Given the description of an element on the screen output the (x, y) to click on. 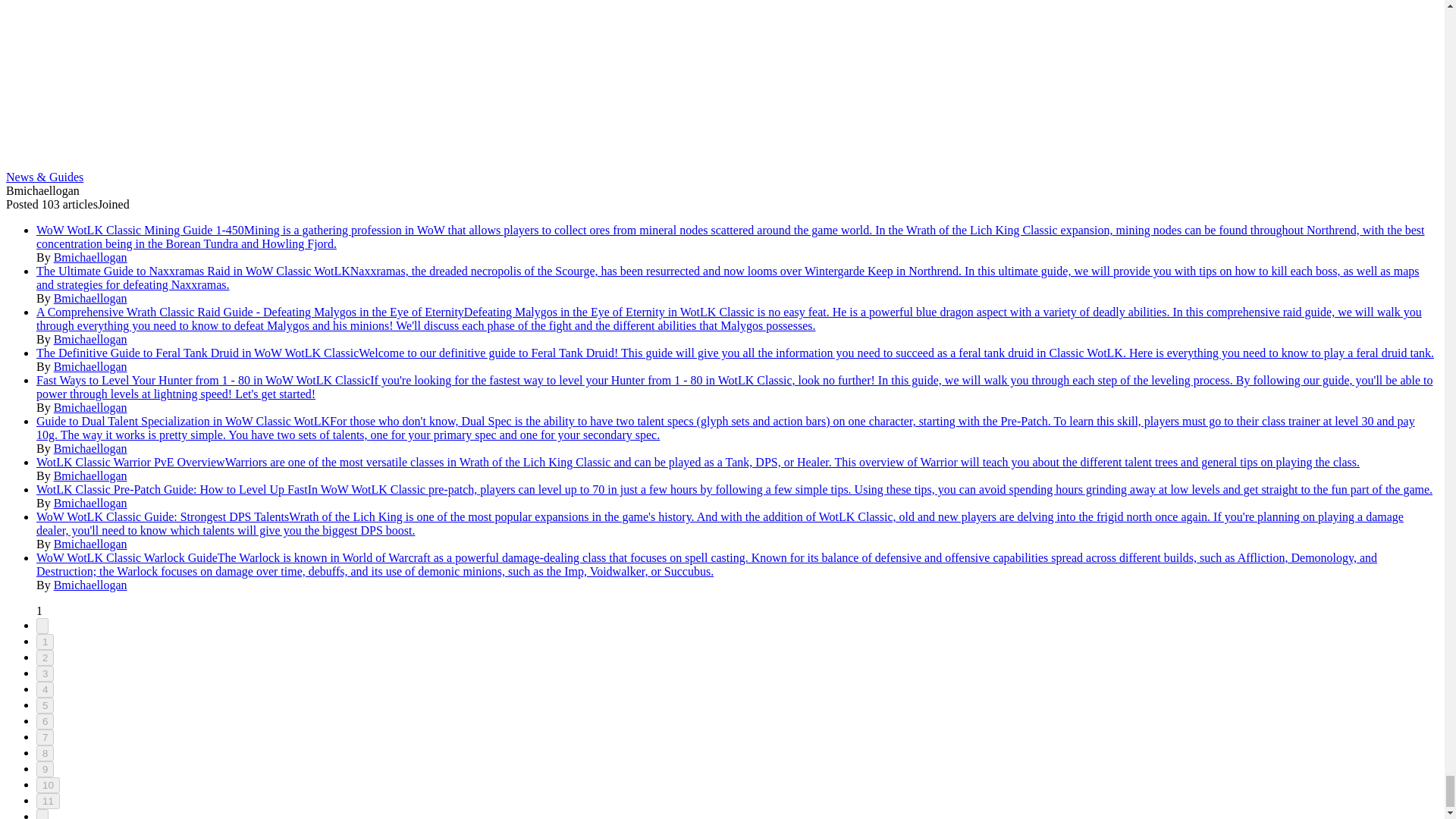
WoW WotLK Classic Mining Guide 1-450 (140, 229)
Bmichaellogan (90, 256)
The Ultimate Guide to Naxxramas Raid in WoW Classic WotLK (193, 270)
Bmichaellogan (90, 366)
Bmichaellogan (90, 297)
